Given the description of an element on the screen output the (x, y) to click on. 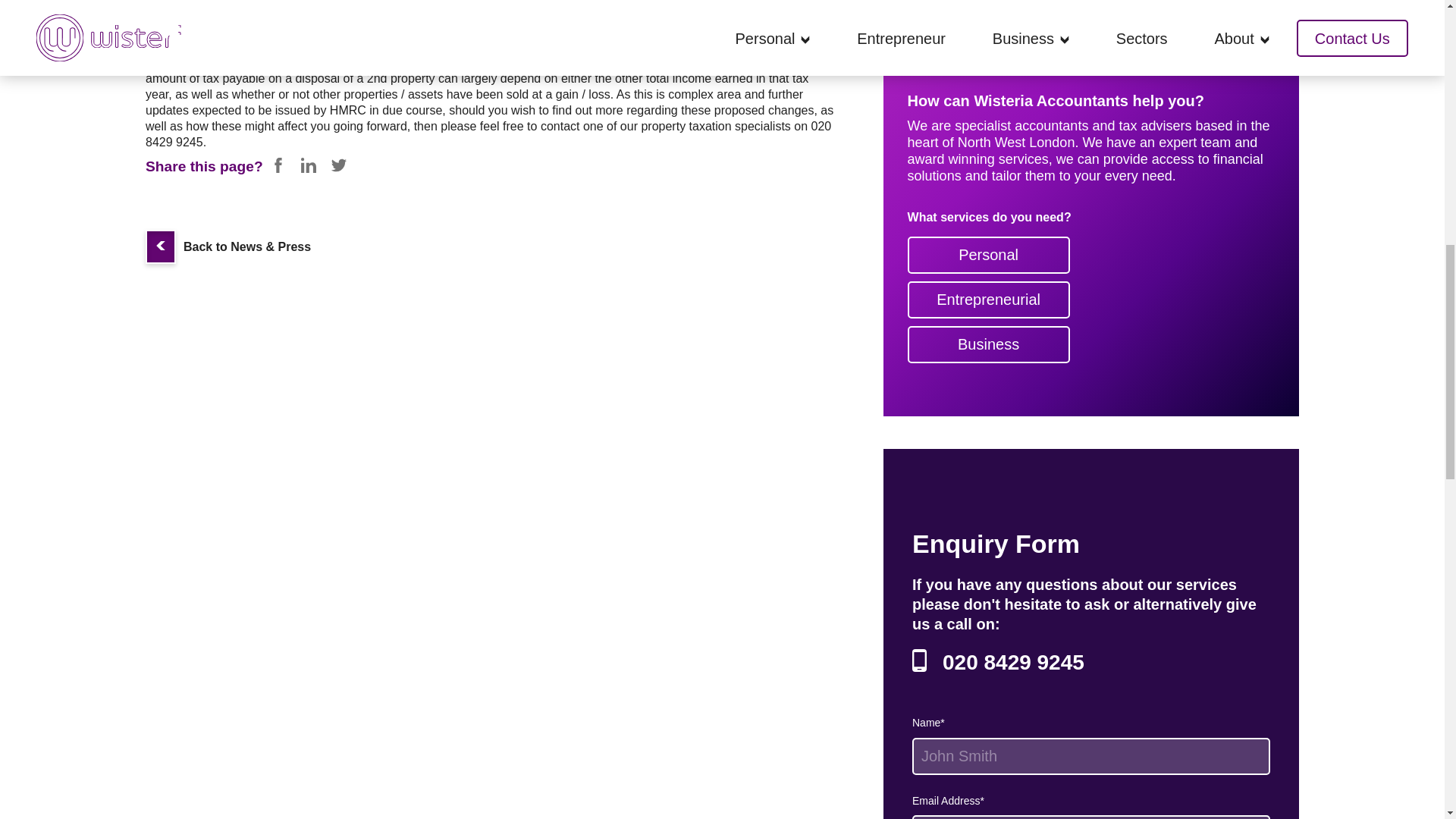
Business (988, 344)
Personal (988, 254)
Entrepreneurial (988, 299)
